Given the description of an element on the screen output the (x, y) to click on. 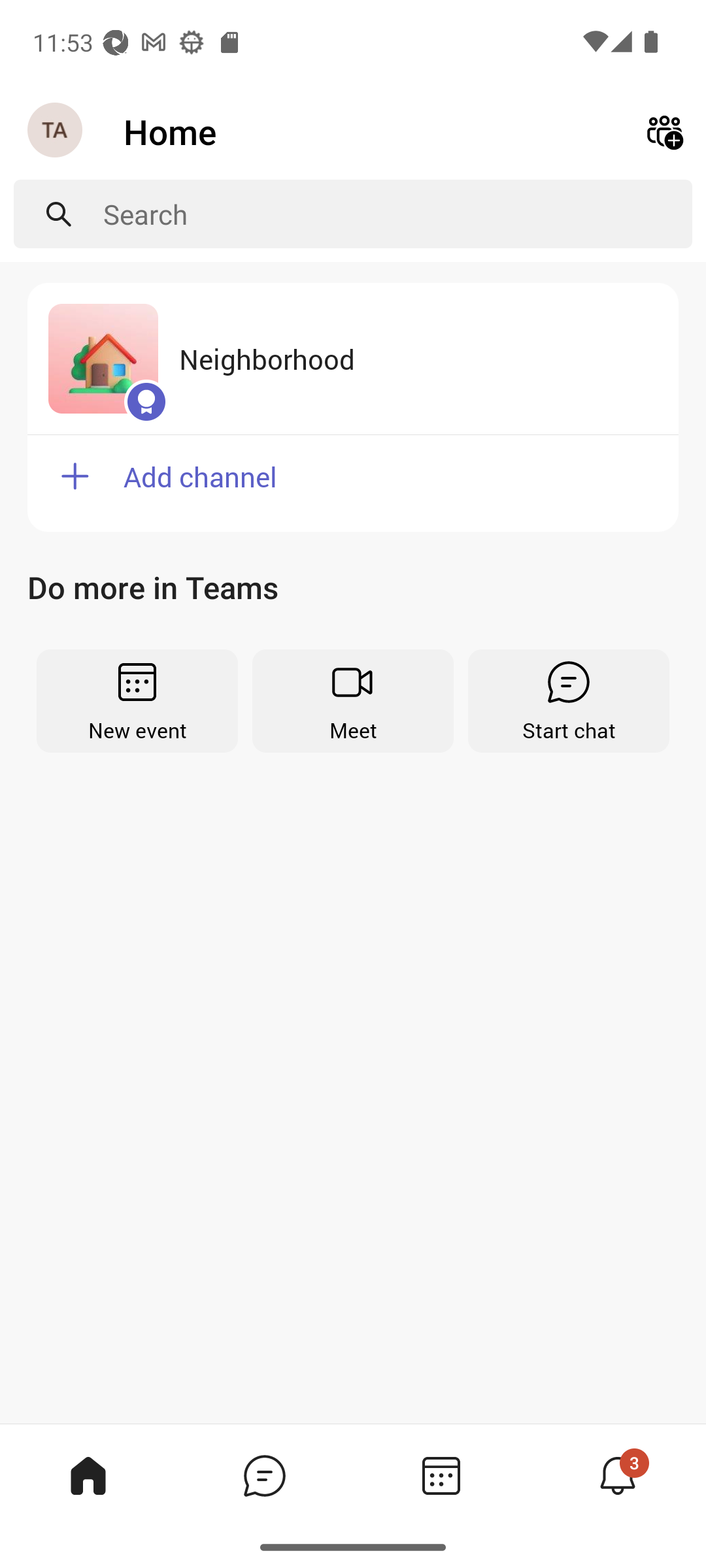
Create new community (664, 131)
Navigation (56, 130)
Search (397, 213)
Neighborhood Community. Neighborhood (352, 358)
New event (136, 700)
Meet (352, 700)
Start chat (568, 700)
Home tab, 1 of 4 (88, 1475)
Chat tab,2 of 4, not selected (264, 1475)
Calendar tab,3 of 4, not selected (441, 1475)
Activity tab,4 of 4, not selected, 3 new 3 (617, 1475)
